Given the description of an element on the screen output the (x, y) to click on. 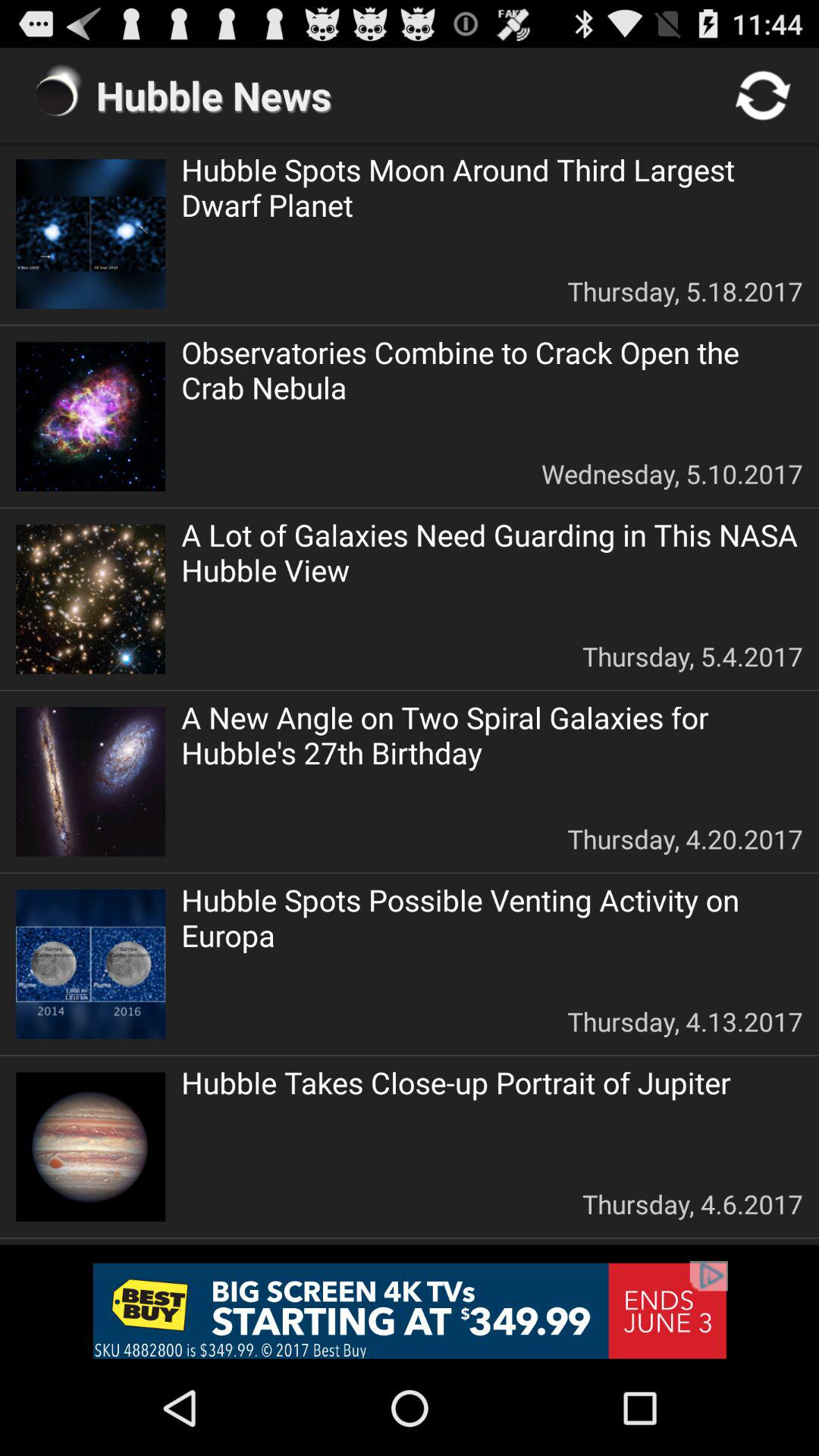
remove the add (409, 1310)
